Given the description of an element on the screen output the (x, y) to click on. 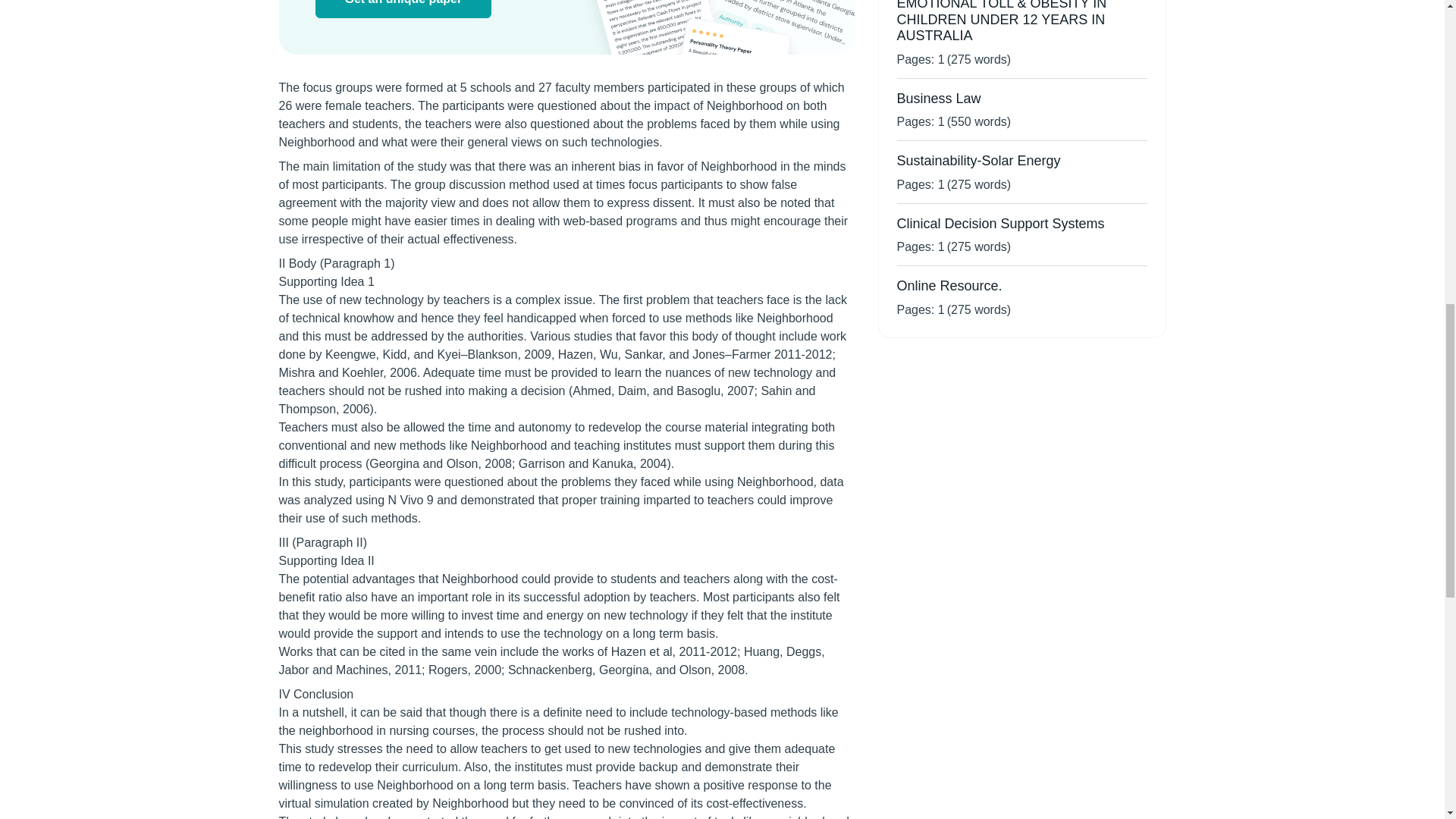
Get an unique paper (403, 9)
Clinical Decision Support Systems (999, 223)
Online Resource. (948, 285)
Sustainability-Solar Energy (977, 160)
Get an unique paper (403, 9)
Business Law (937, 98)
